Given the description of an element on the screen output the (x, y) to click on. 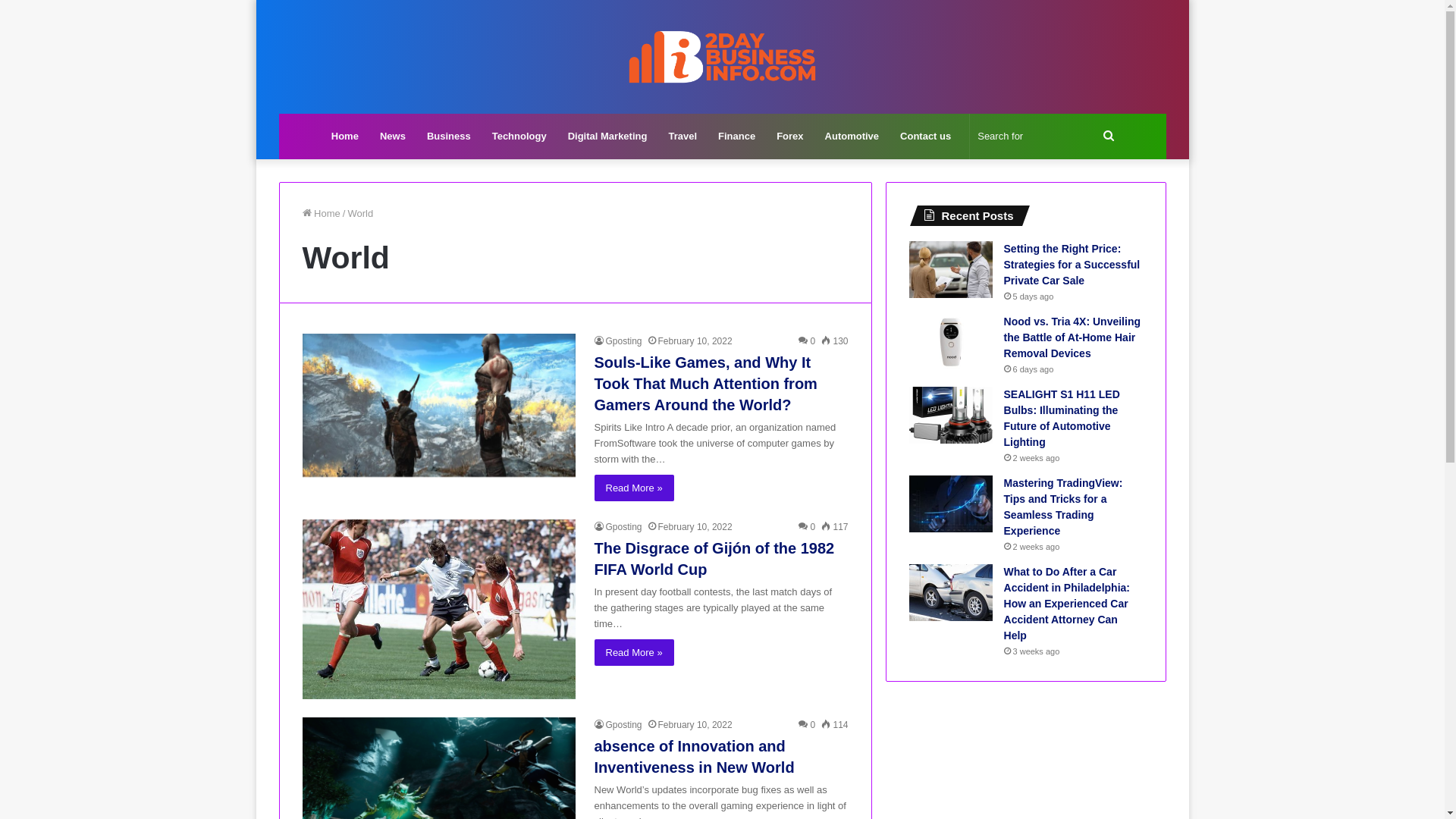
News Element type: text (392, 136)
absence of Innovation and Inventiveness in New World Element type: text (694, 756)
Travel Element type: text (682, 136)
Forex Element type: text (789, 136)
Business Element type: text (448, 136)
Search for Element type: text (1108, 136)
Home Element type: text (344, 136)
Finance Element type: text (736, 136)
Automotive Element type: text (852, 136)
Contact us Element type: text (925, 136)
Search for Element type: hover (1046, 136)
Digital Marketing Element type: text (607, 136)
Home Element type: text (320, 213)
Today Business Info Element type: hover (722, 56)
Technology Element type: text (519, 136)
